Given the description of an element on the screen output the (x, y) to click on. 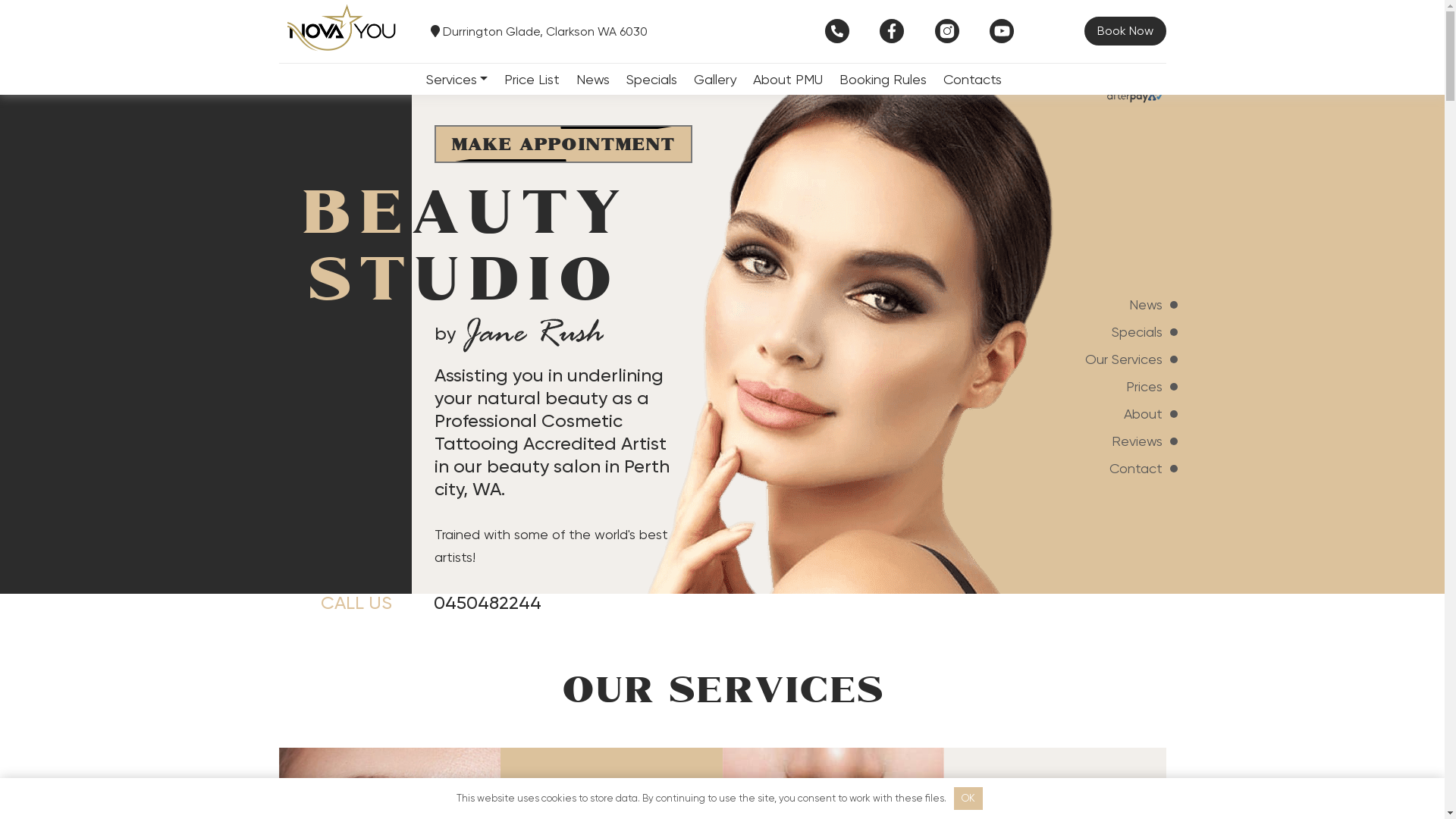
Specials Element type: text (1130, 337)
Reviews Element type: text (1130, 446)
Contacts Element type: text (972, 79)
Gallery Element type: text (714, 79)
Services Element type: text (457, 79)
Prices Element type: text (1130, 391)
News Element type: text (592, 79)
Booking Rules Element type: text (882, 79)
News Element type: text (1130, 309)
OK Element type: text (968, 798)
0450482244 Element type: text (487, 602)
Price List Element type: text (531, 79)
Contact Element type: text (1130, 473)
Book Now Element type: text (1125, 30)
Specials Element type: text (651, 79)
About PMU Element type: text (787, 79)
About Element type: text (1130, 419)
MAKE APPOINTMENT Element type: text (562, 144)
Our Services Element type: text (1130, 364)
